Given the description of an element on the screen output the (x, y) to click on. 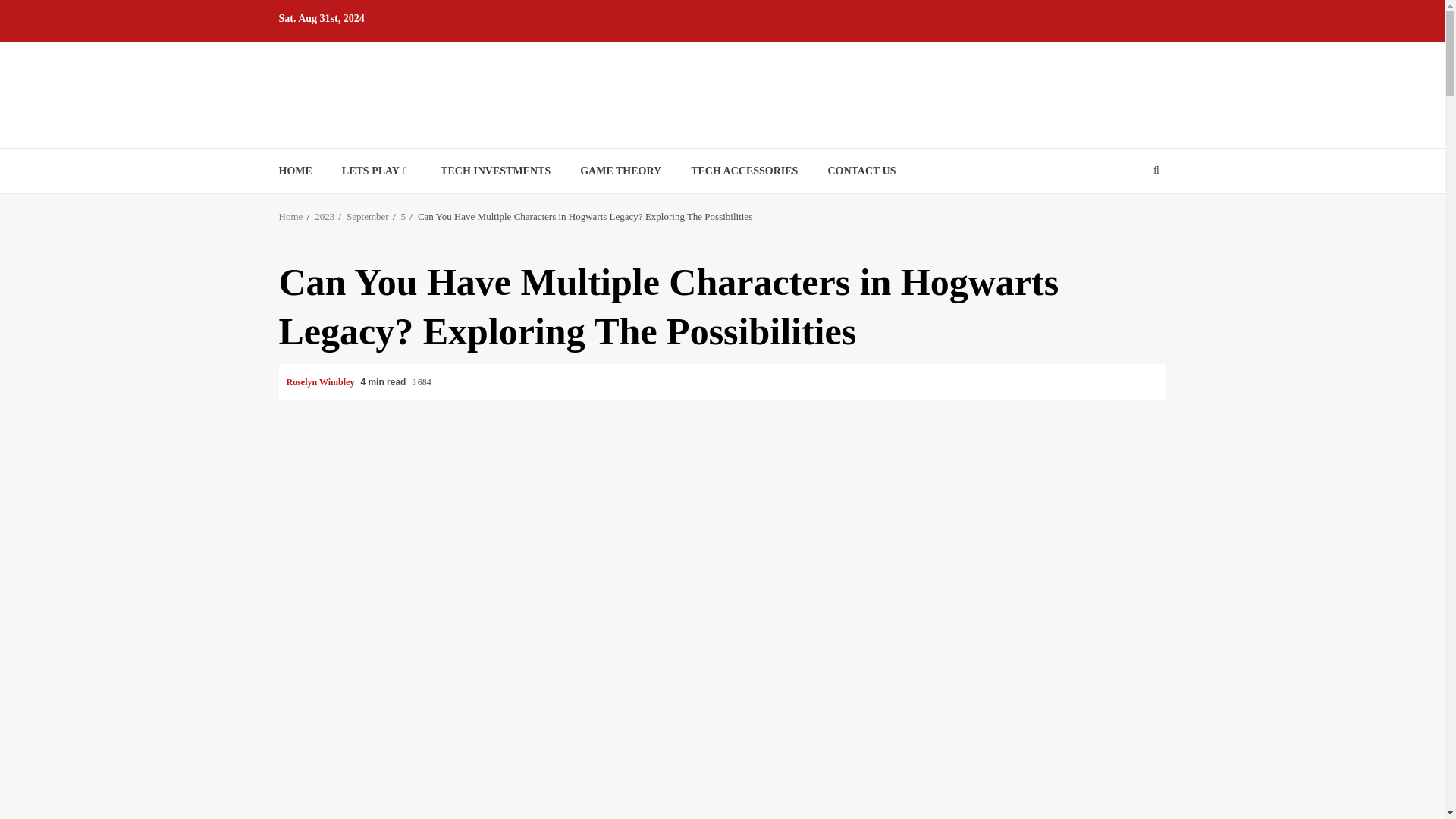
LETS PLAY (376, 170)
684 (421, 382)
GAME THEORY (620, 170)
Home (290, 215)
Roselyn Wimbley (321, 381)
Search (1126, 216)
2023 (324, 215)
September (367, 215)
HOME (296, 170)
TECH ACCESSORIES (743, 170)
